Given the description of an element on the screen output the (x, y) to click on. 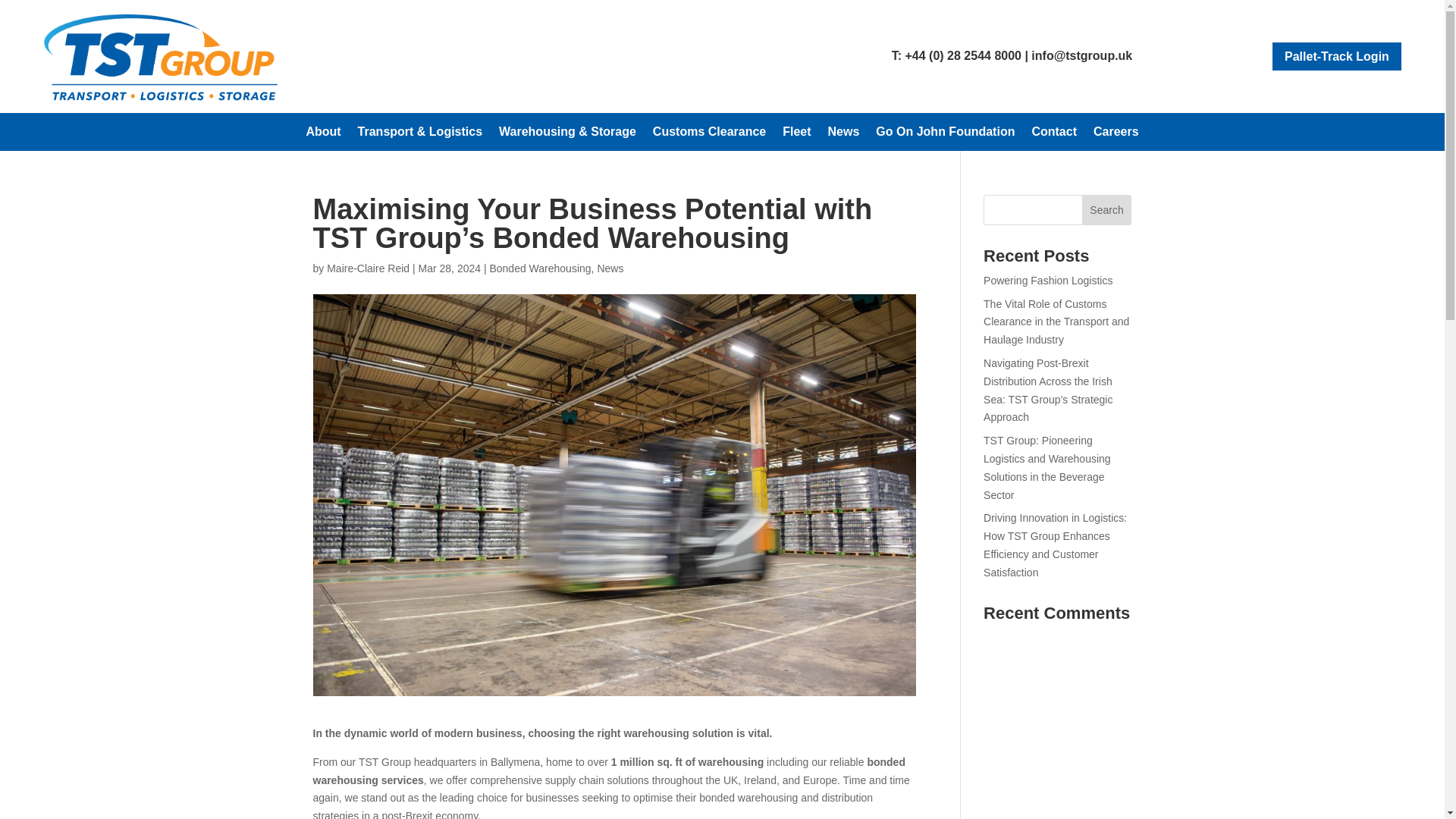
Posts by Maire-Claire Reid (367, 268)
Careers (1115, 134)
Contact (1053, 134)
Go On John Foundation (945, 134)
About (322, 134)
Search (1106, 209)
Fleet (796, 134)
Pallet-Track Login (1336, 56)
Customs Clearance (708, 134)
News (844, 134)
TST-Group-Logo-Web (160, 56)
